Given the description of an element on the screen output the (x, y) to click on. 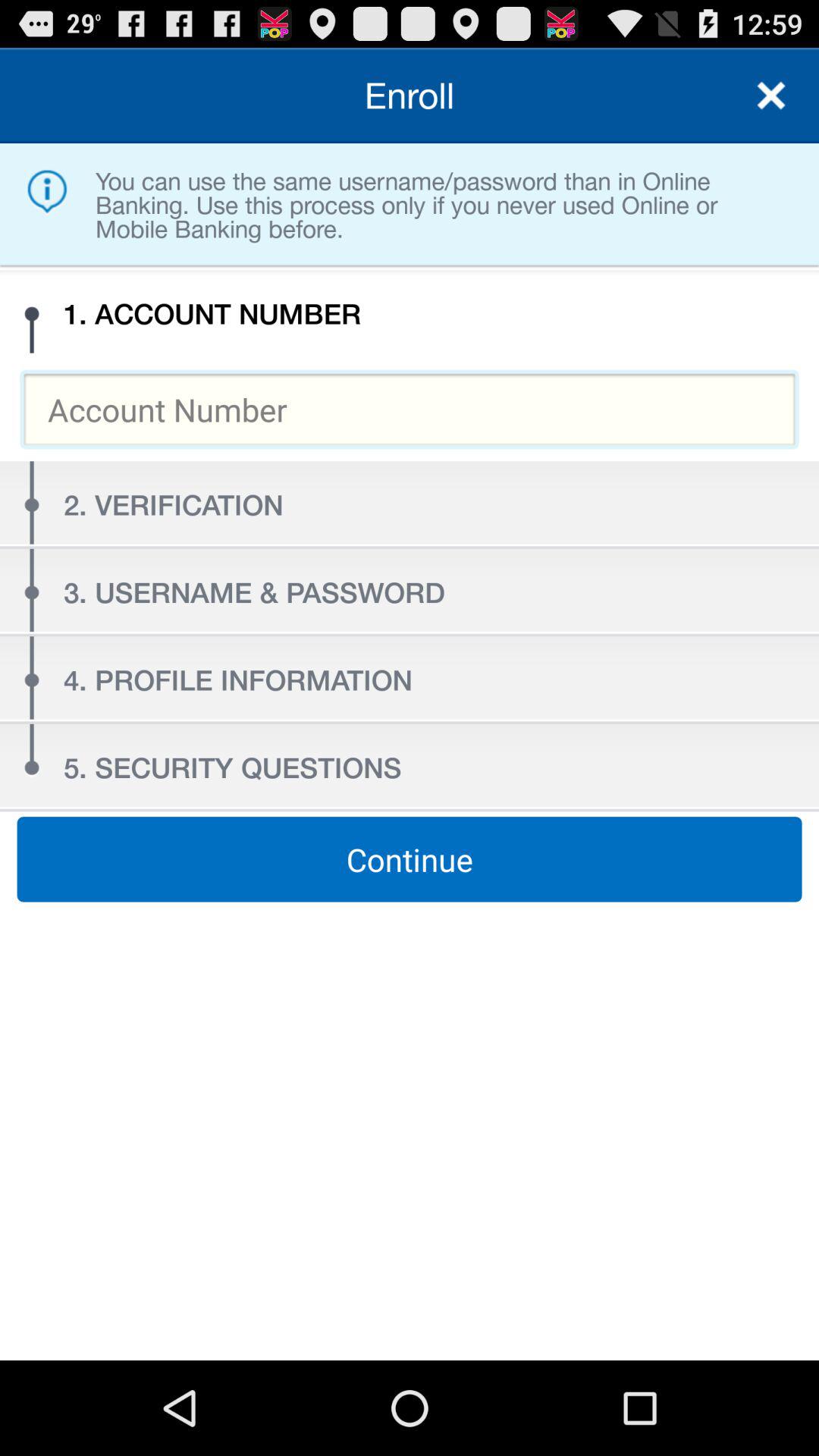
open the item at the top right corner (771, 95)
